Given the description of an element on the screen output the (x, y) to click on. 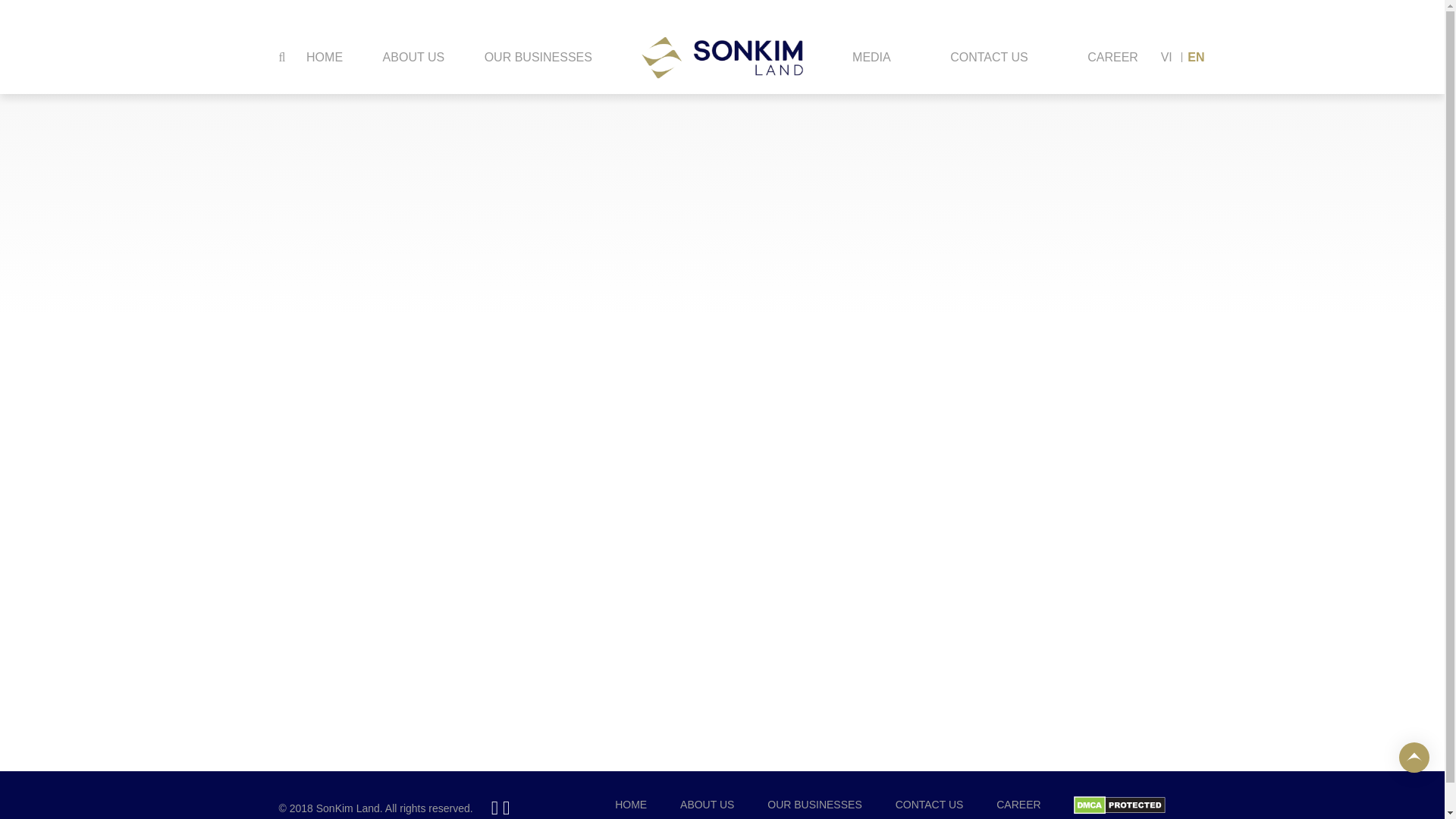
ABOUT US (706, 804)
HOME (324, 46)
MEDIA (871, 57)
CAREER (1112, 57)
HOME (324, 57)
HOME (630, 804)
ABOUT US (413, 57)
OUR BUSINESSES (538, 52)
CONTACT US (929, 804)
MEDIA (871, 57)
